Given the description of an element on the screen output the (x, y) to click on. 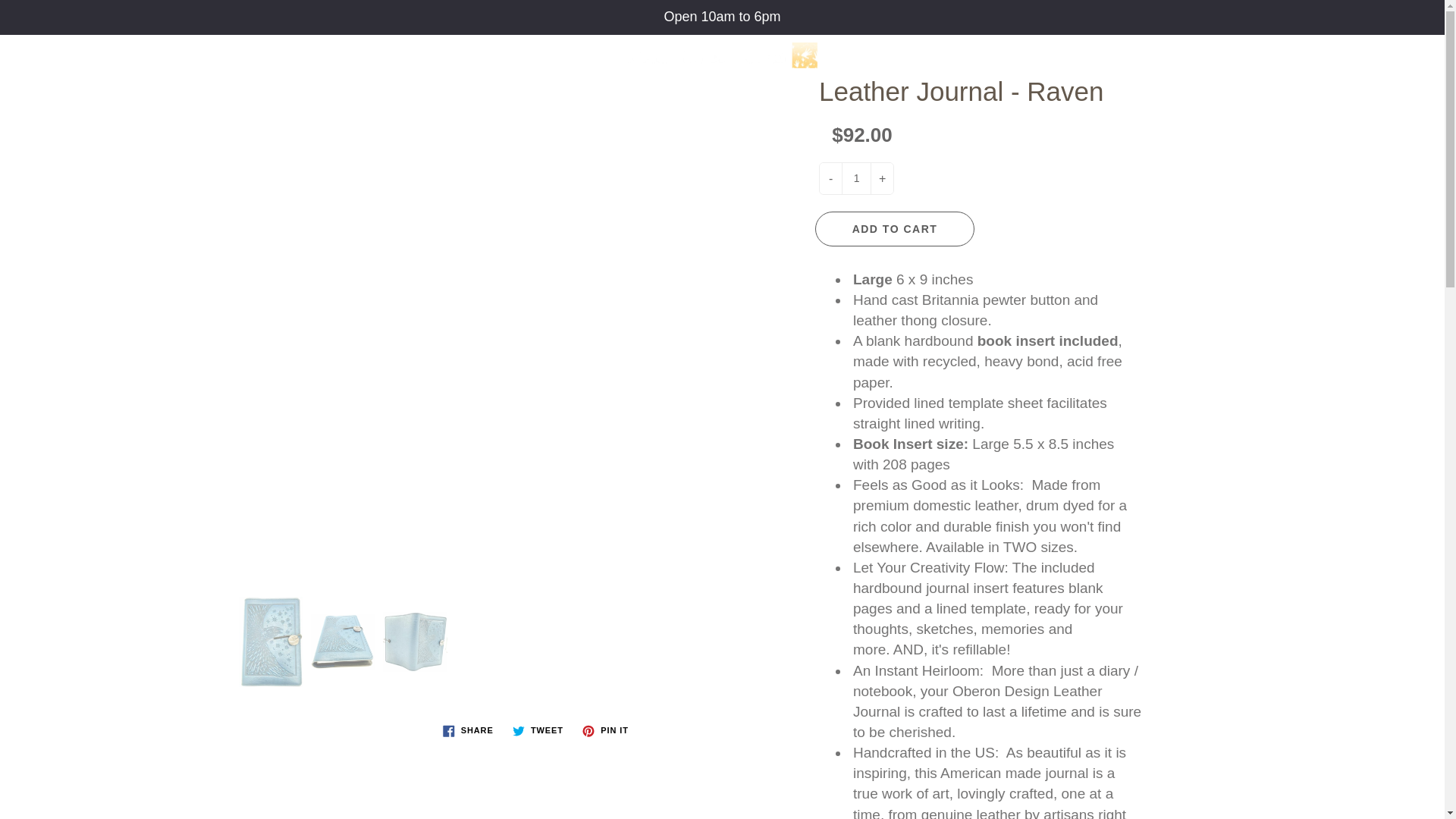
Leather Journal - Raven (414, 641)
My account (1372, 42)
Tweet on Twitter (537, 730)
Search (1334, 42)
Leather Journal - Raven (343, 641)
Menu (34, 42)
1 (855, 178)
Share on Facebook (467, 730)
Leather Journal - Raven (270, 641)
You have 0 items in your cart (1410, 42)
Pin on Pinterest (604, 730)
